Given the description of an element on the screen output the (x, y) to click on. 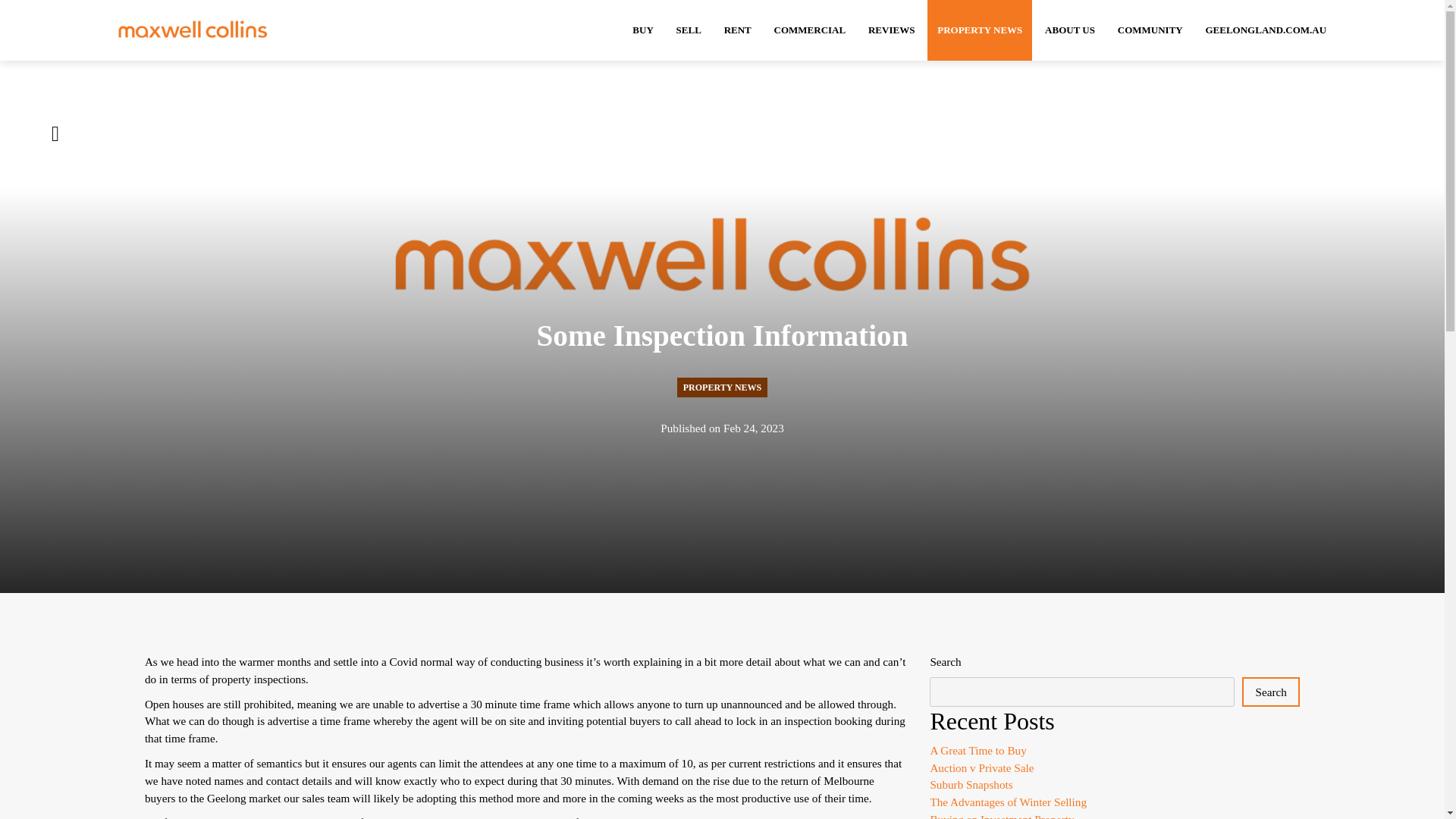
PROPERTY NEWS (979, 30)
COMMERCIAL (810, 30)
REVIEWS (891, 30)
ABOUT US (1070, 30)
COMMUNITY (1150, 30)
GEELONGLAND.COM.AU (1265, 30)
